Given the description of an element on the screen output the (x, y) to click on. 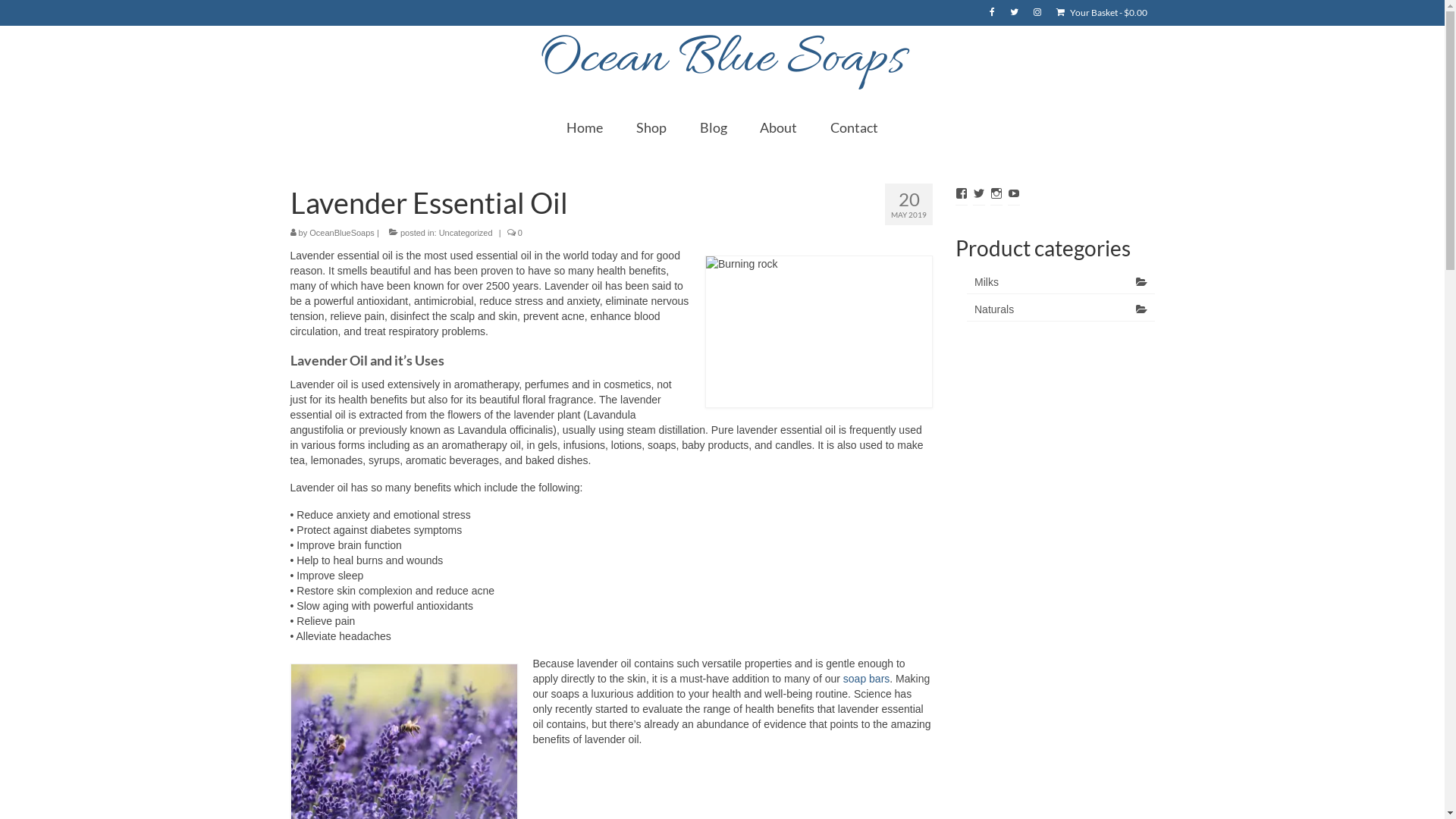
Shop Element type: text (651, 126)
Uncategorized Element type: text (465, 232)
Ocean Blue Soaps Element type: text (722, 59)
Blog Element type: text (712, 126)
OceanBlueSoaps Element type: text (341, 232)
Naturals Element type: text (1060, 309)
Home Element type: text (584, 126)
About Element type: text (778, 126)
Milks Element type: text (1060, 282)
Your Basket - $0.00 Element type: text (1101, 12)
soap bars Element type: text (866, 678)
Contact Element type: text (854, 126)
